Given the description of an element on the screen output the (x, y) to click on. 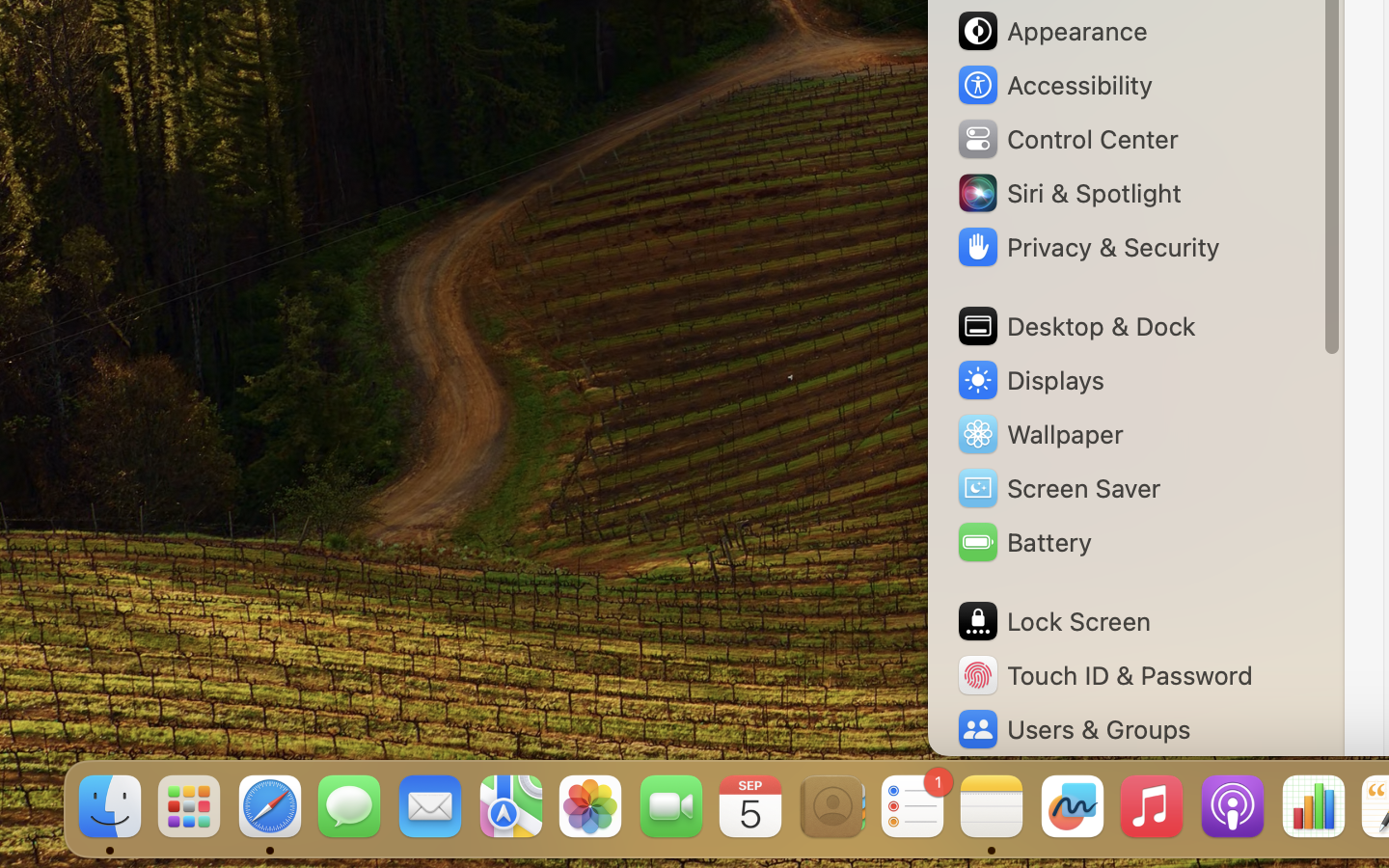
Users & Groups Element type: AXStaticText (1072, 728)
Desktop & Dock Element type: AXStaticText (1075, 325)
Wallpaper Element type: AXStaticText (1038, 433)
Appearance Element type: AXStaticText (1050, 30)
Privacy & Security Element type: AXStaticText (1086, 246)
